Given the description of an element on the screen output the (x, y) to click on. 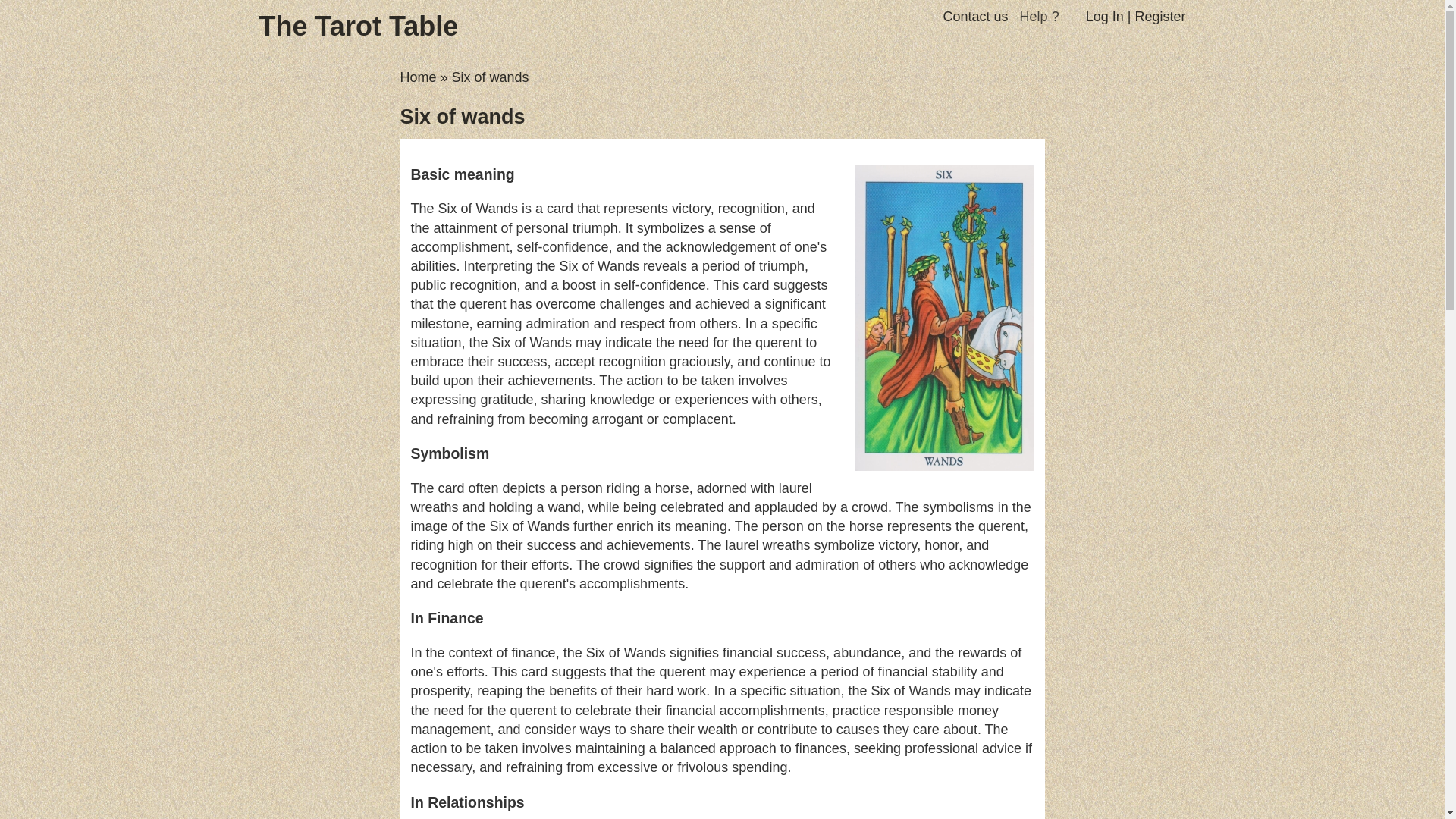
Home (418, 77)
The Tarot Table (354, 30)
Contact us (976, 16)
Log In (1105, 16)
Register (1159, 16)
